Given the description of an element on the screen output the (x, y) to click on. 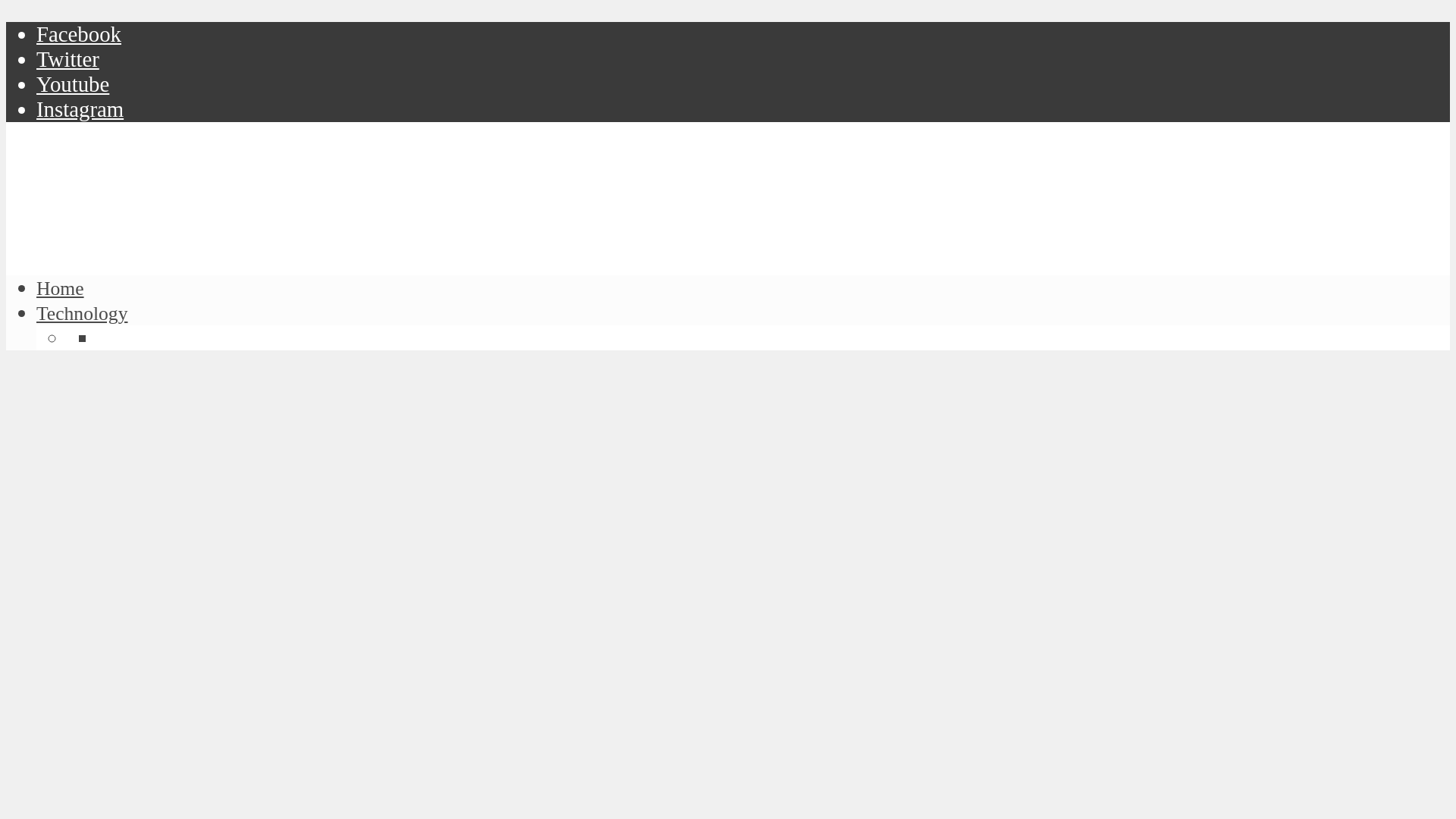
Instagram (79, 109)
Technology (82, 313)
Facebook (78, 33)
Home (60, 288)
Twitter (67, 58)
Youtube (72, 84)
